Given the description of an element on the screen output the (x, y) to click on. 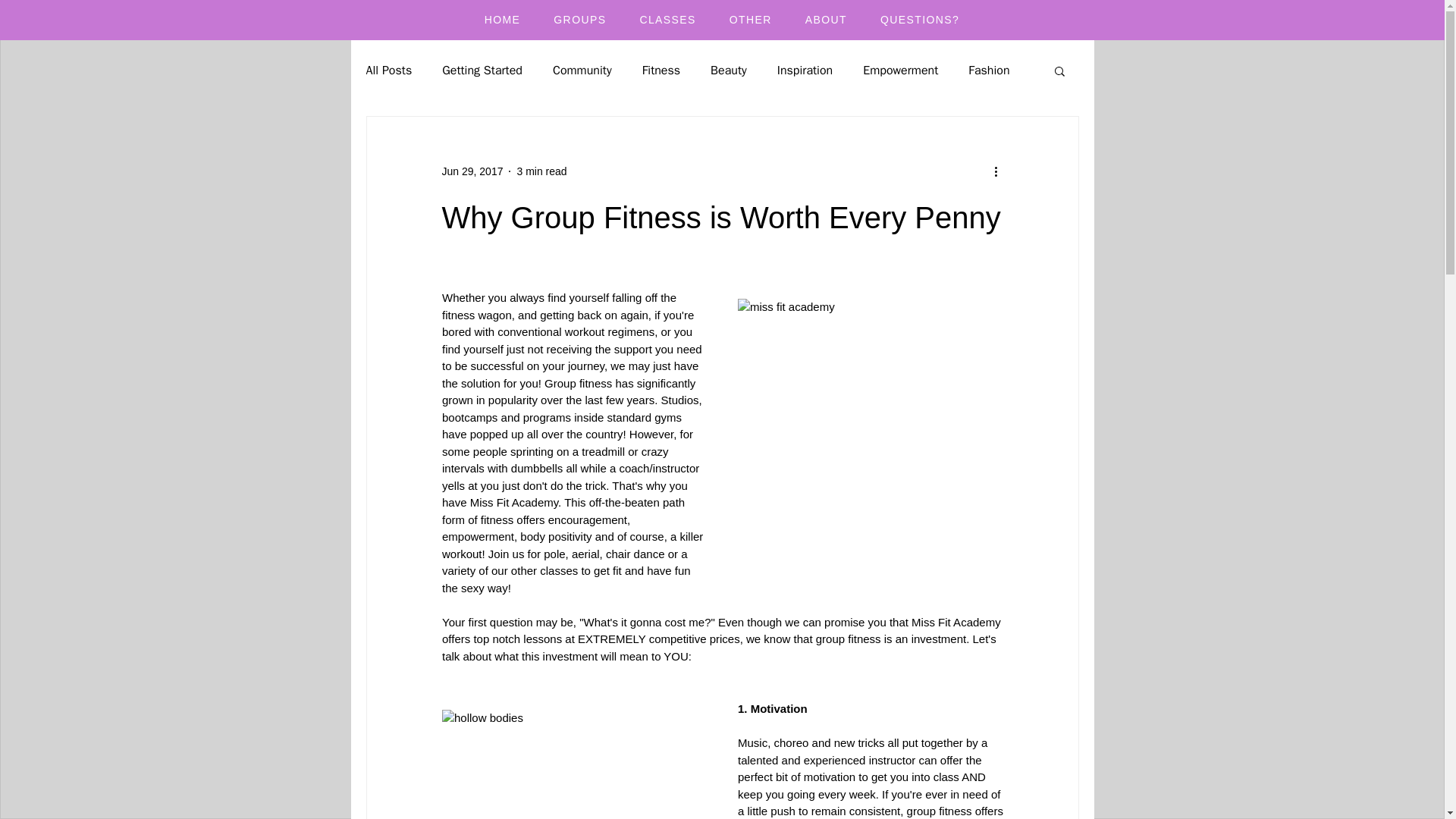
Jun 29, 2017 (471, 171)
Community (582, 69)
3 min read (541, 171)
Getting Started (482, 69)
ABOUT (826, 19)
Inspiration (804, 69)
Empowerment (900, 69)
Beauty (728, 69)
Fashion (988, 69)
HOME (502, 19)
Fitness (660, 69)
All Posts (388, 69)
